Given the description of an element on the screen output the (x, y) to click on. 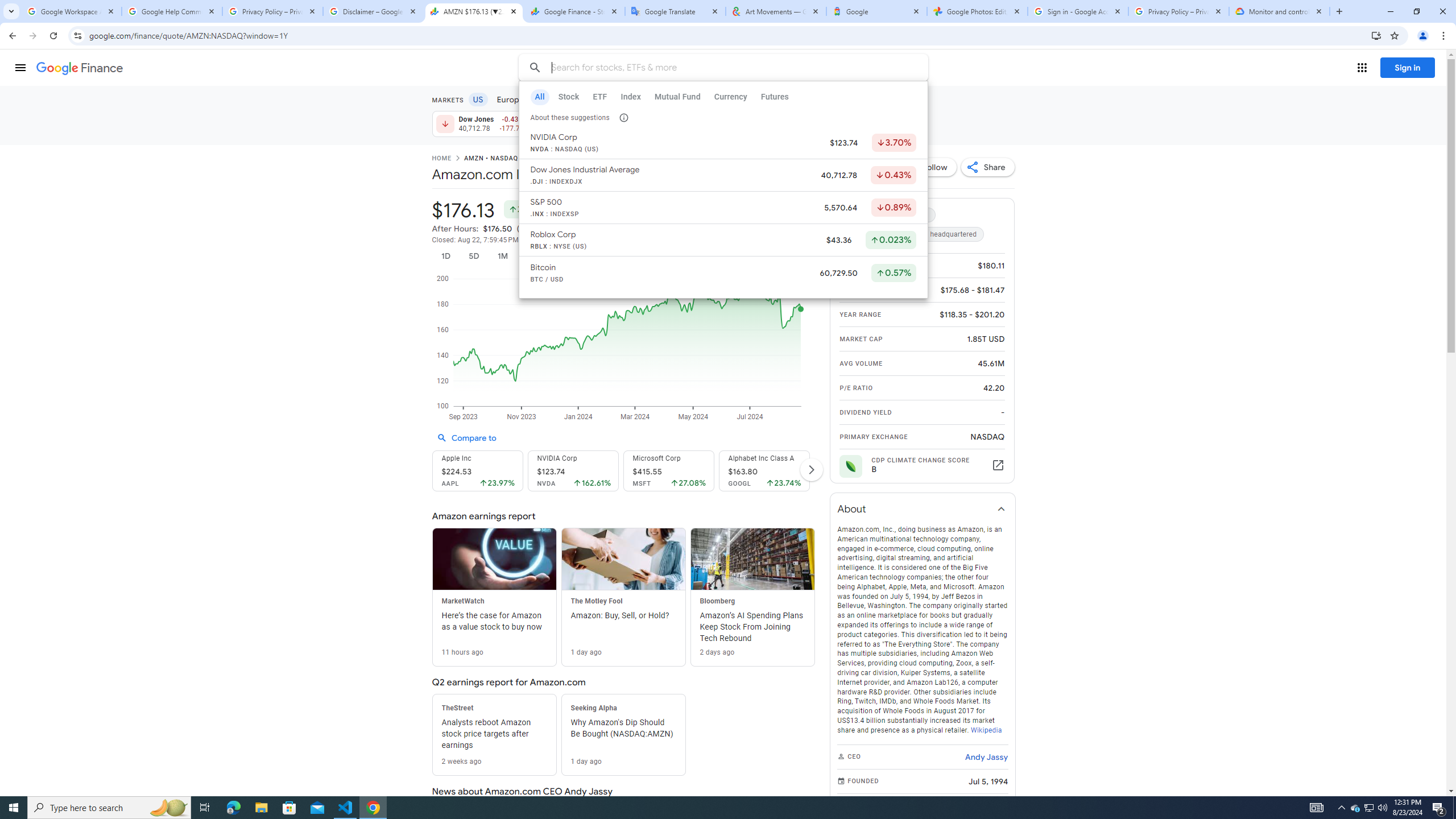
5Y (621, 255)
Index (630, 96)
Google Workspace Admin Community (71, 11)
Asia (545, 99)
Disclaimer (614, 239)
